Given the description of an element on the screen output the (x, y) to click on. 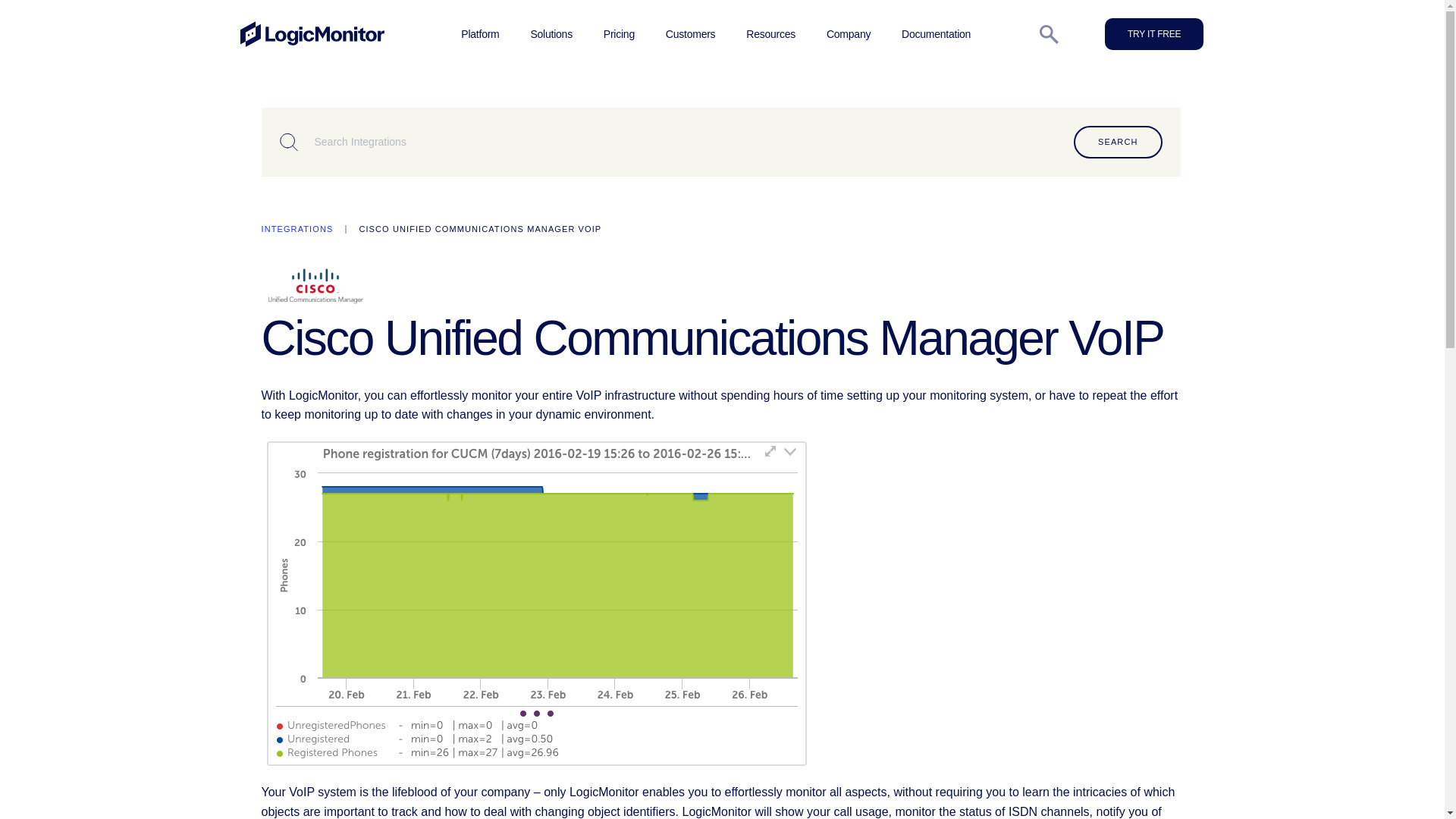
Platform (480, 33)
TRY IT FREE (1154, 33)
Documentation (936, 33)
Customers (690, 33)
Search (1117, 142)
Company (848, 33)
Search (1117, 142)
Resources (769, 33)
Pricing (619, 33)
Solutions (550, 33)
